Given the description of an element on the screen output the (x, y) to click on. 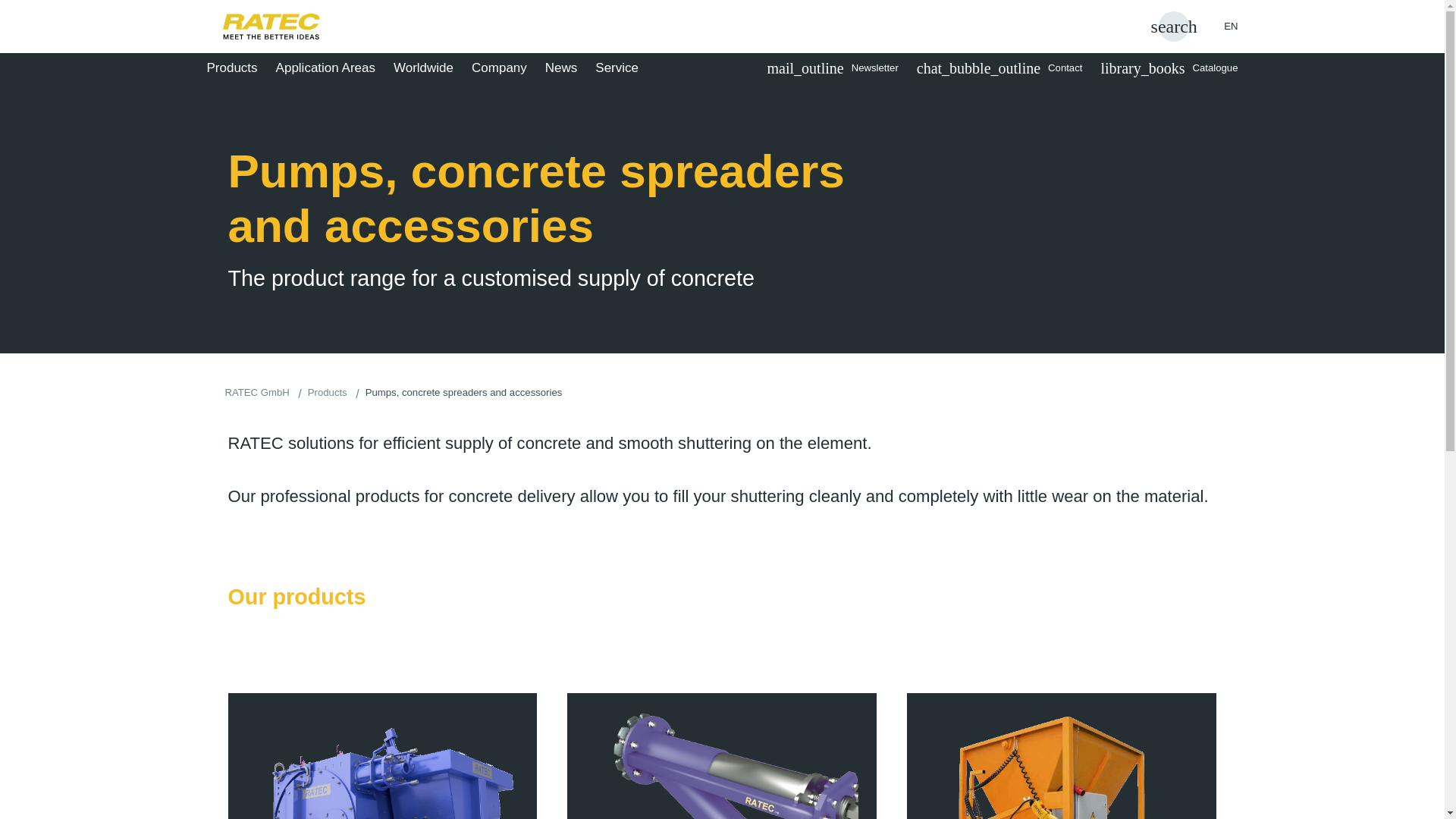
EN (1219, 26)
Products (236, 67)
search (1173, 26)
